Given the description of an element on the screen output the (x, y) to click on. 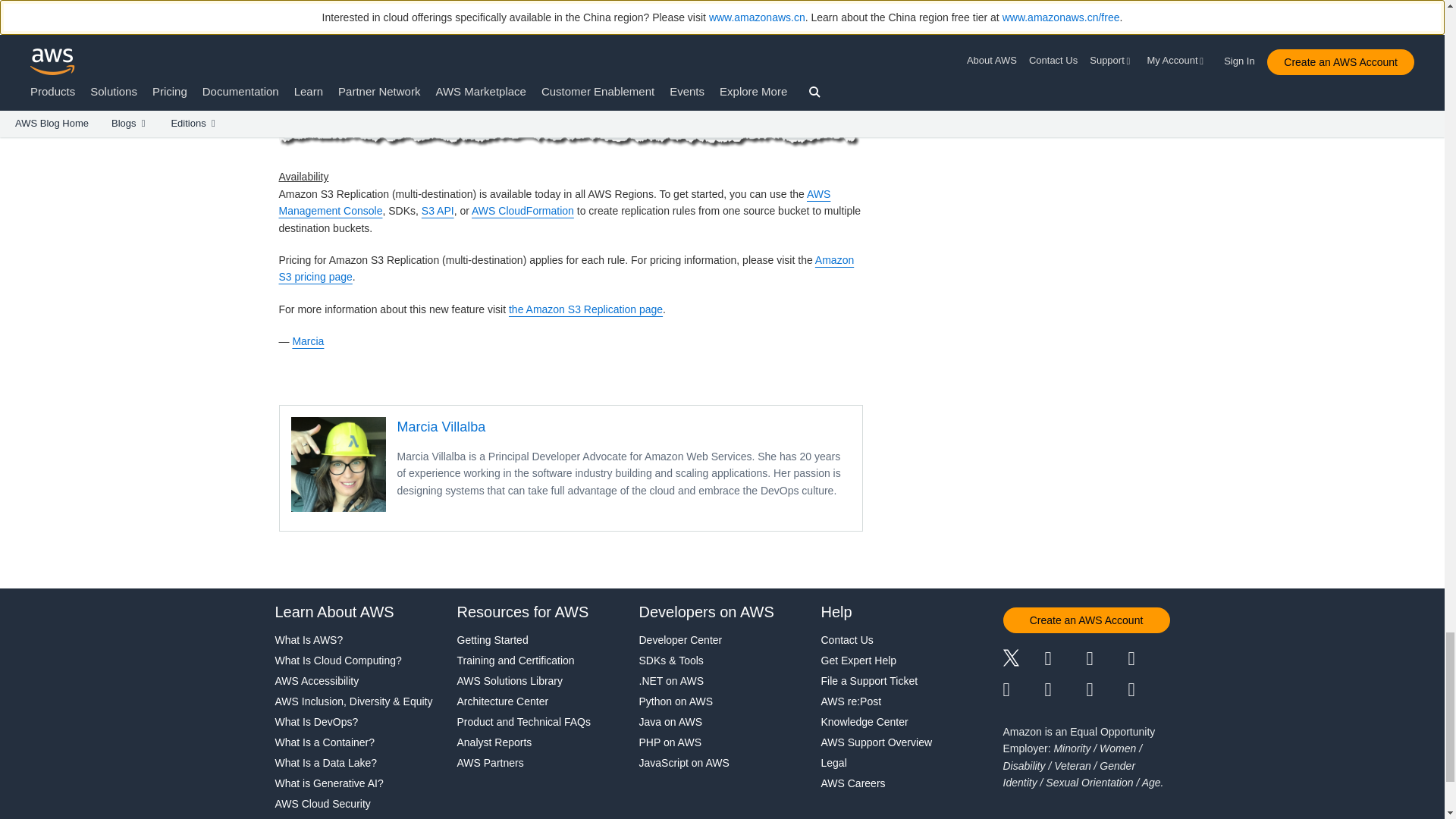
AWS SDKs (401, 210)
